Given the description of an element on the screen output the (x, y) to click on. 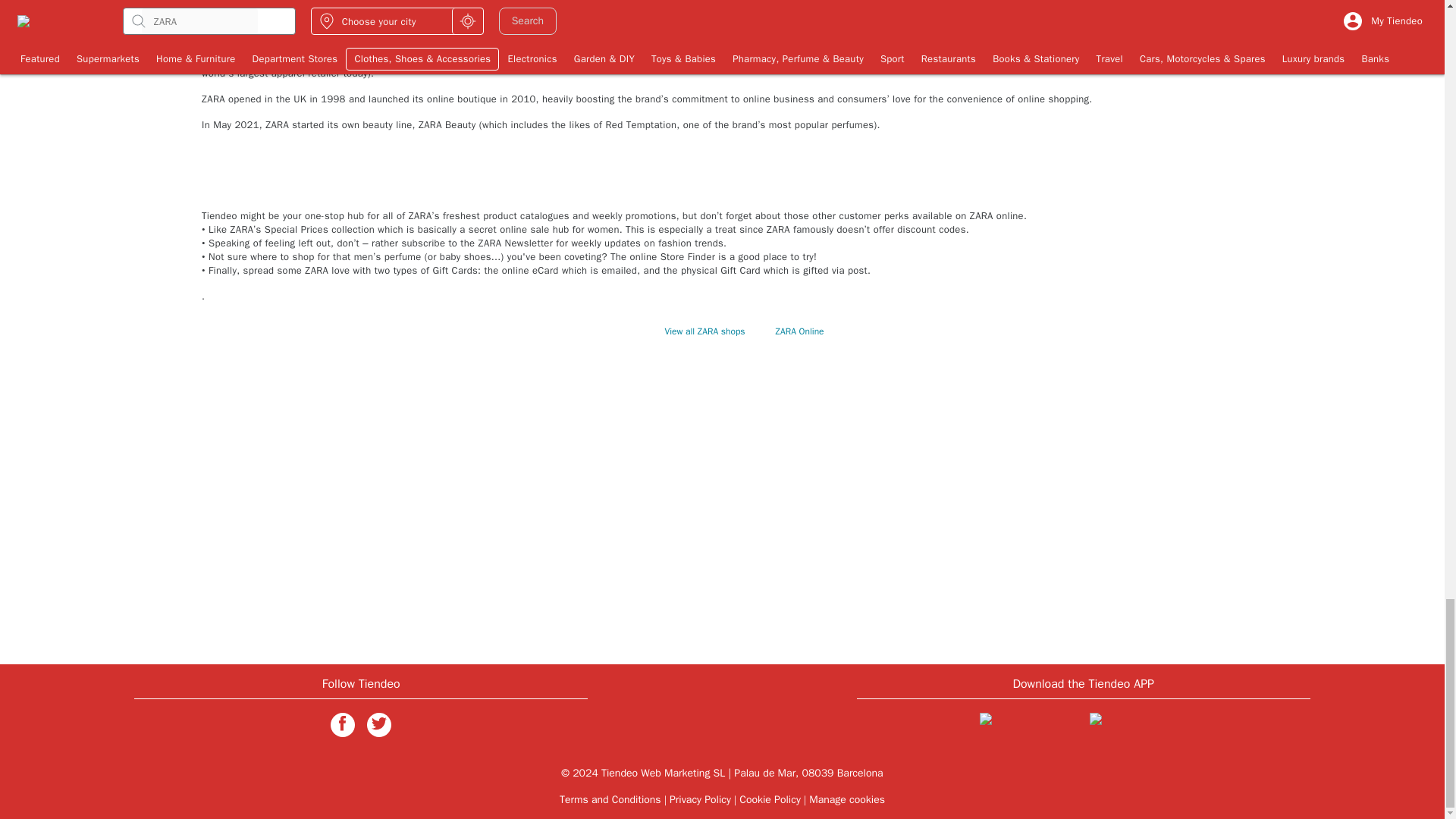
facebook (342, 724)
twitter (378, 724)
facebook (342, 723)
iOS App (1028, 727)
twitter (378, 723)
Android App (1138, 727)
